Given the description of an element on the screen output the (x, y) to click on. 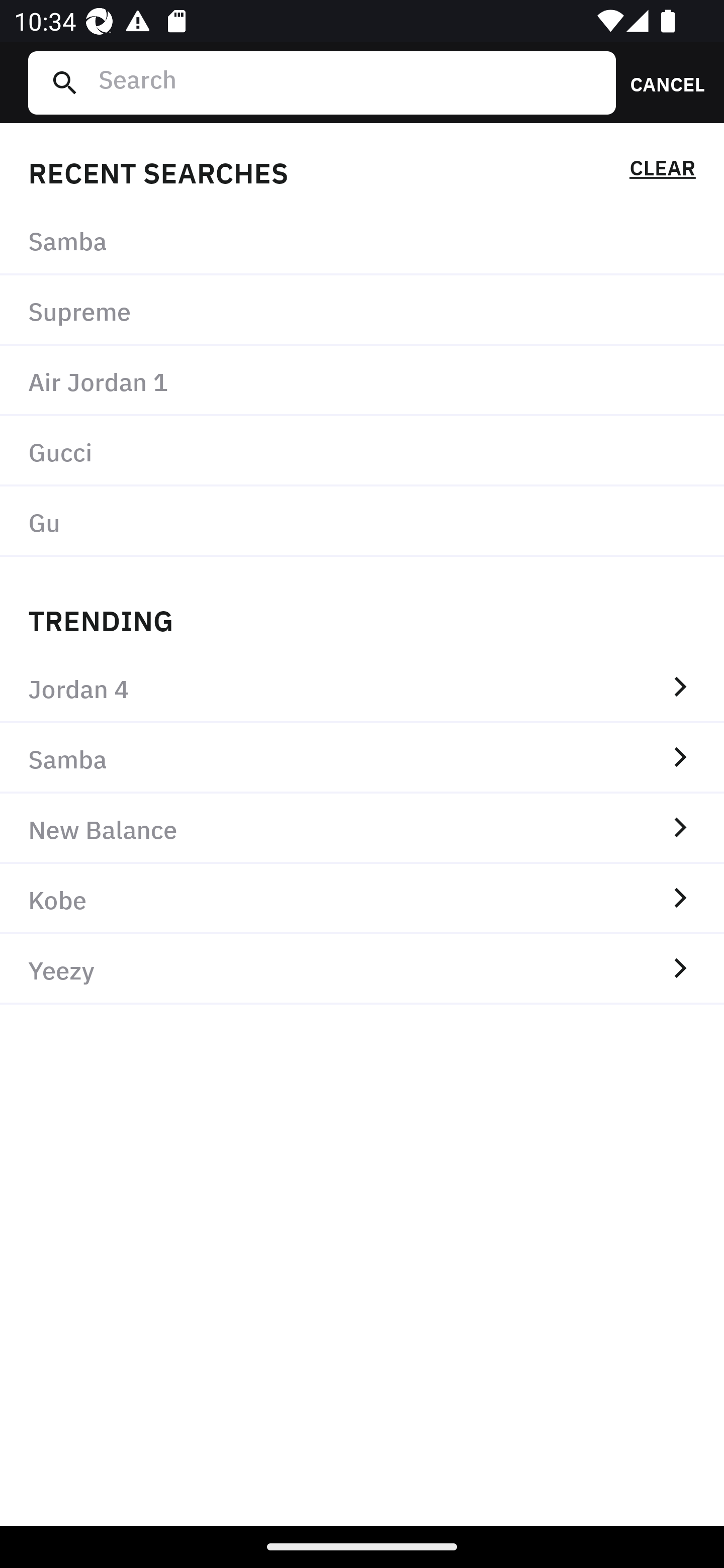
CANCEL (660, 82)
Search (349, 82)
CLEAR (662, 170)
Samba (362, 240)
Supreme (362, 310)
Air Jordan 1 (362, 380)
Gucci (362, 450)
Gu (362, 521)
Jordan 4  (362, 687)
Samba  (362, 757)
New Balance  (362, 828)
Kobe  (362, 898)
Yeezy  (362, 969)
